Given the description of an element on the screen output the (x, y) to click on. 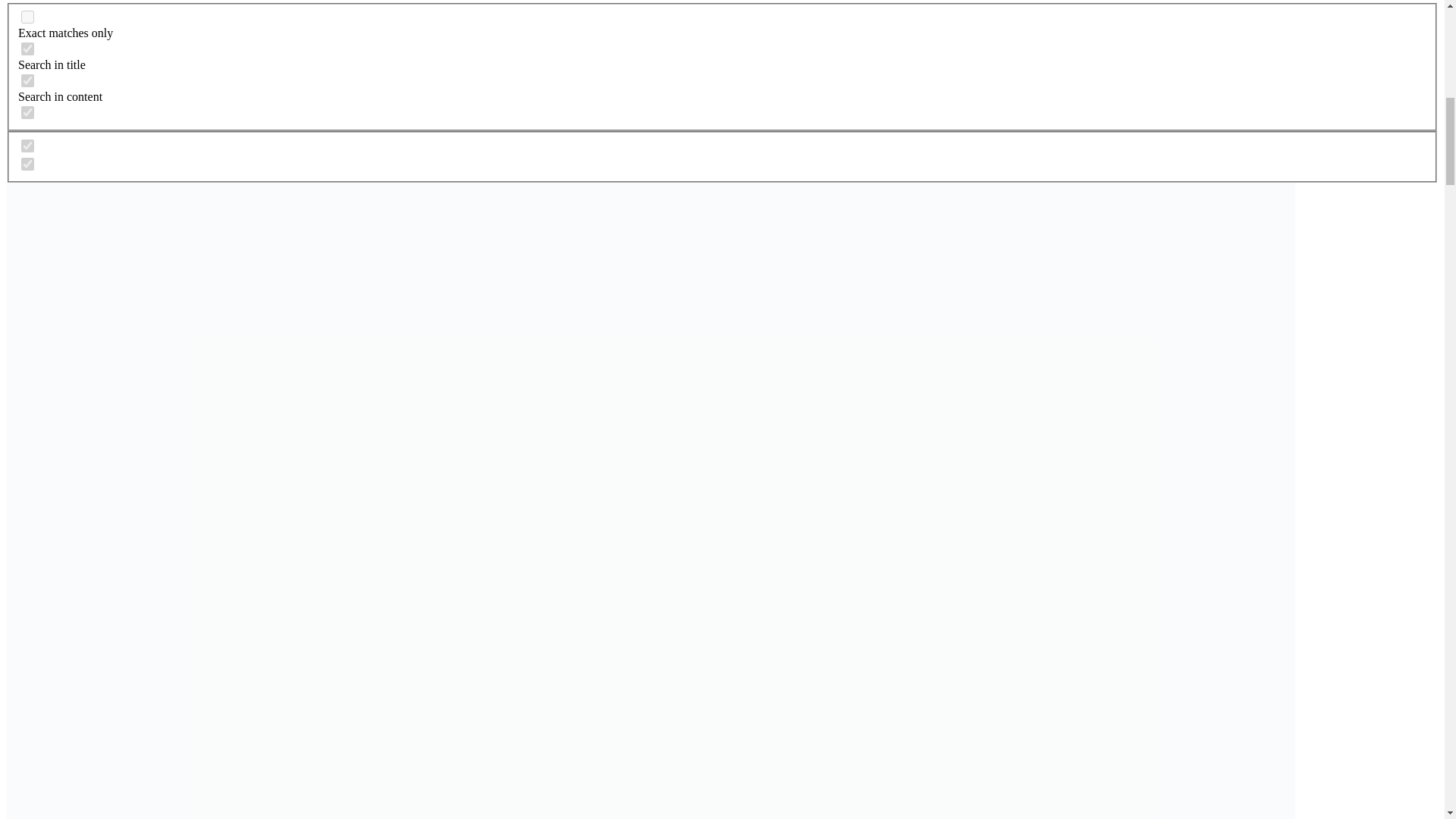
page (27, 164)
content (27, 80)
title (27, 48)
exact (27, 16)
post (27, 145)
excerpt (27, 112)
